Given the description of an element on the screen output the (x, y) to click on. 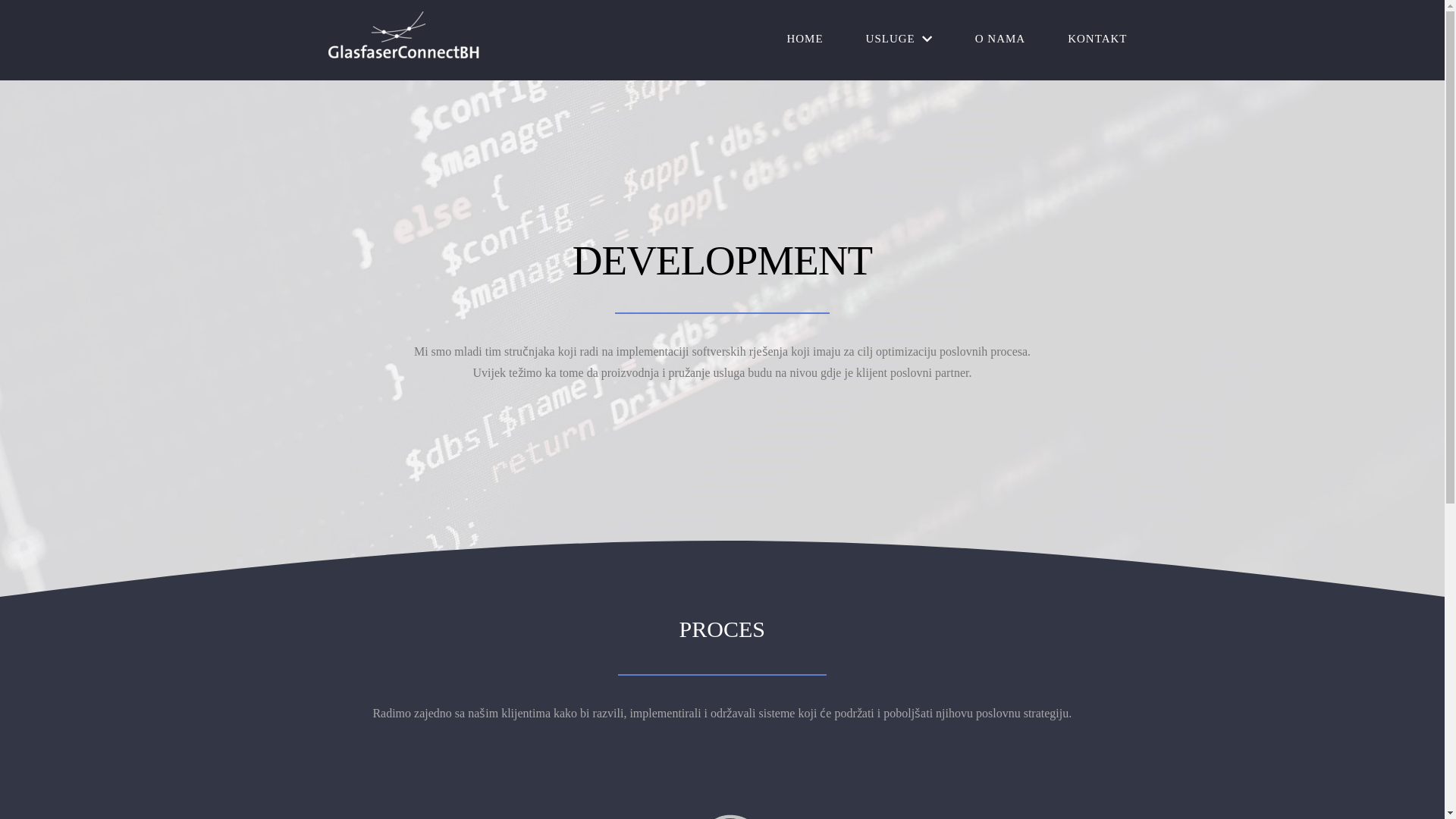
O NAMA Element type: text (1000, 37)
HOME Element type: text (804, 37)
KONTAKT Element type: text (1096, 37)
USLUGE Element type: text (899, 37)
